Given the description of an element on the screen output the (x, y) to click on. 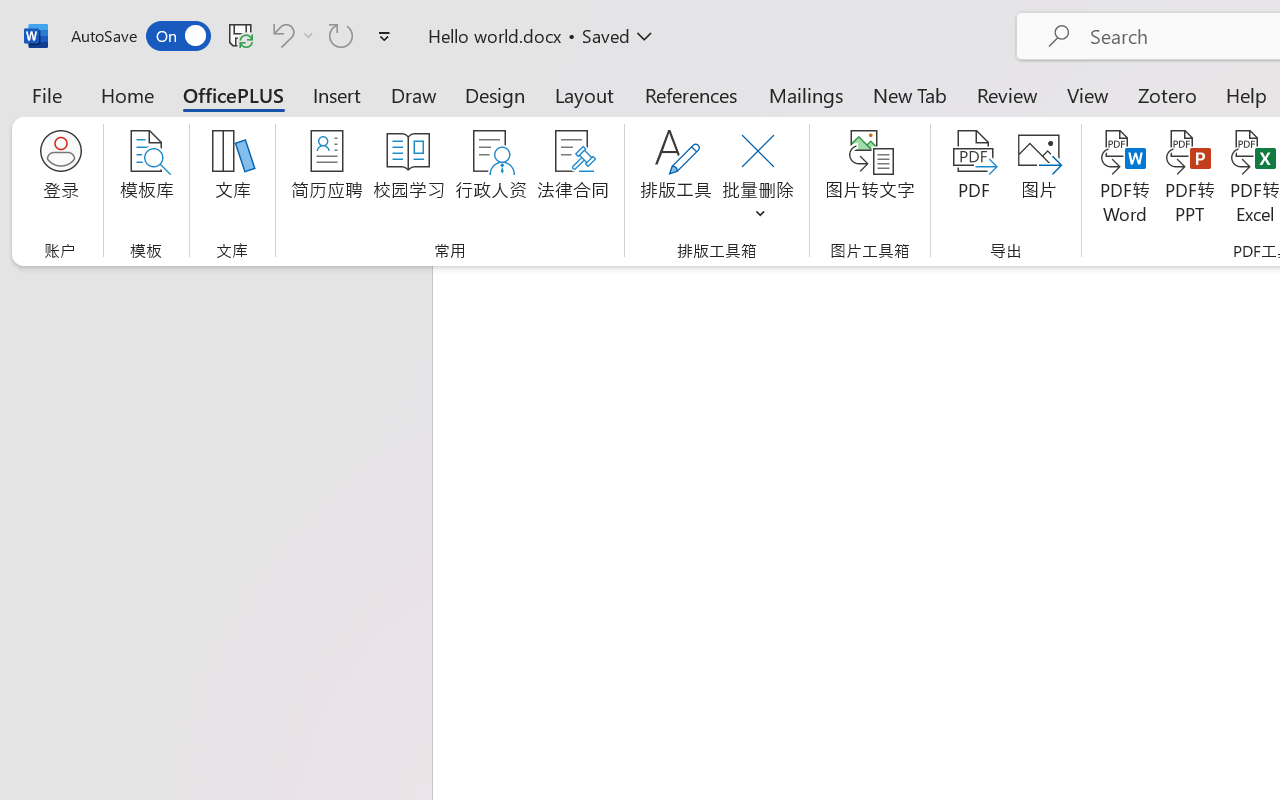
New Tab (909, 94)
Mailings (806, 94)
Save (241, 35)
Can't Undo (290, 35)
View (1087, 94)
Can't Repeat (341, 35)
Zotero (1166, 94)
OfficePLUS (233, 94)
Design (495, 94)
Insert (337, 94)
AutoSave (140, 35)
Draw (413, 94)
